Given the description of an element on the screen output the (x, y) to click on. 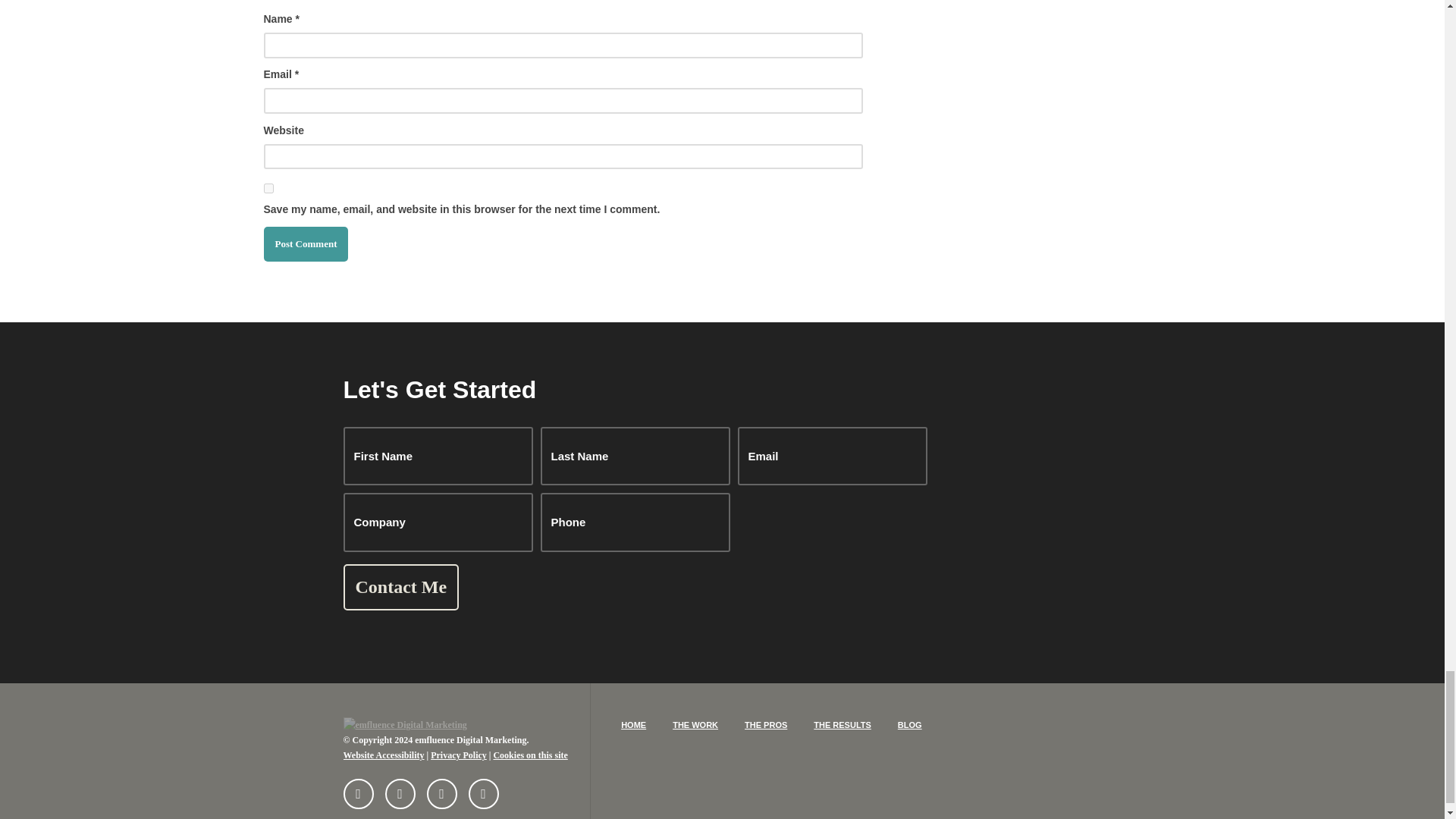
Post Comment (306, 243)
yes (268, 188)
Contact Me (400, 587)
